Given the description of an element on the screen output the (x, y) to click on. 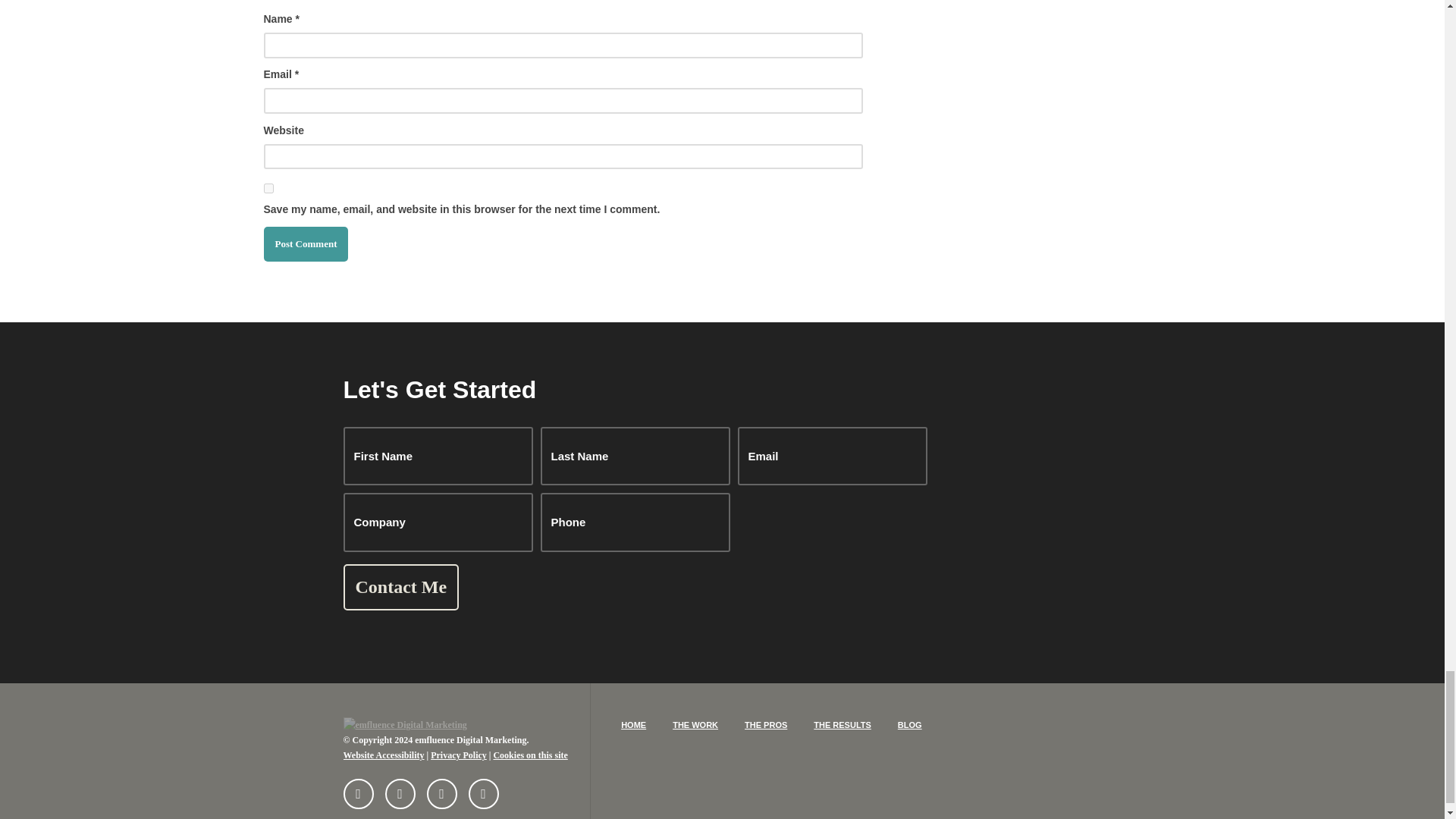
Post Comment (306, 243)
yes (268, 188)
Contact Me (400, 587)
